Given the description of an element on the screen output the (x, y) to click on. 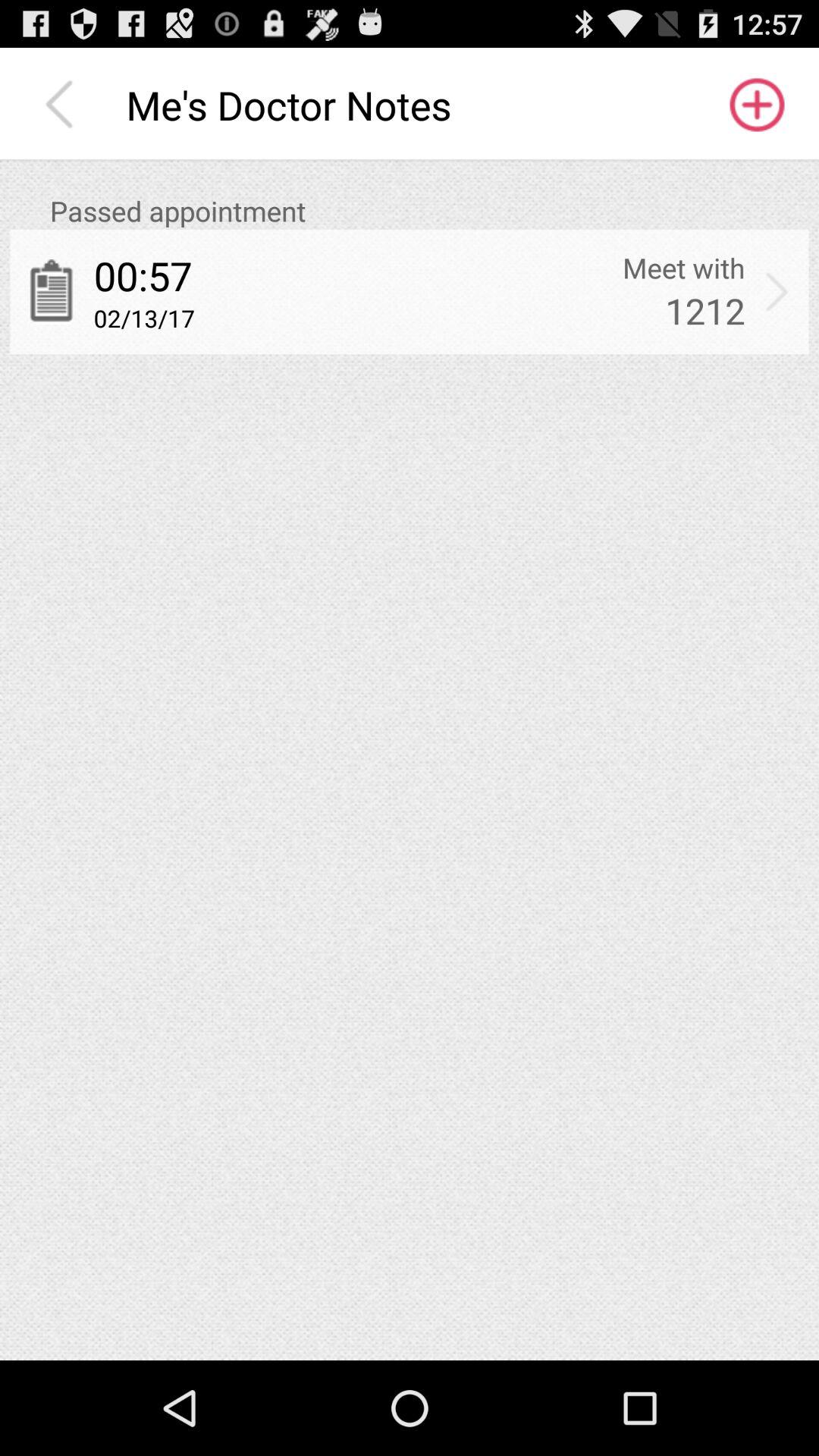
choose item below the meet with icon (705, 310)
